Given the description of an element on the screen output the (x, y) to click on. 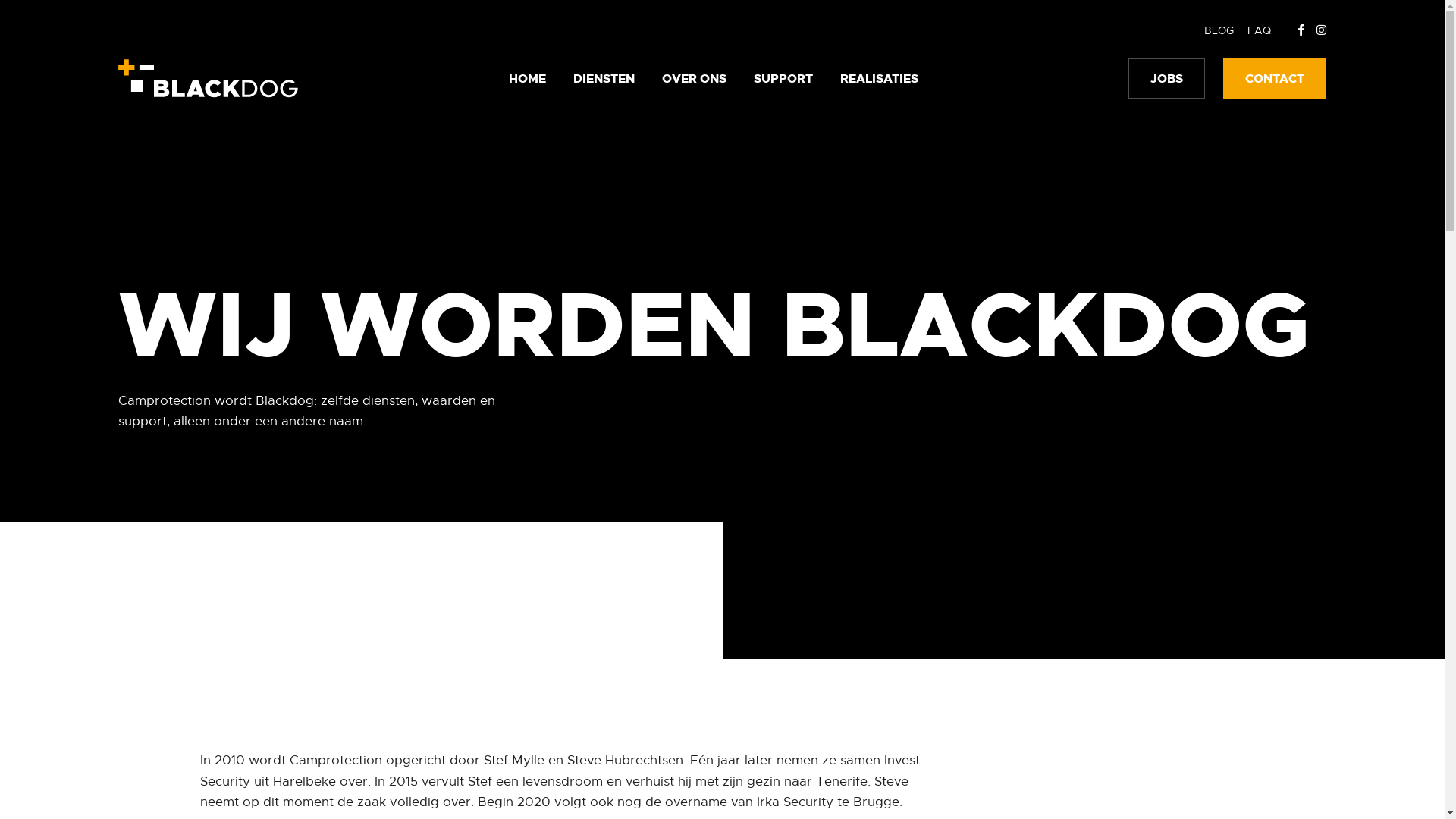
REALISATIES Element type: text (879, 78)
OVER ONS Element type: text (693, 78)
BLOG Element type: text (1218, 30)
DIENSTEN Element type: text (603, 78)
SUPPORT Element type: text (782, 78)
CONTACT Element type: text (1274, 78)
JOBS Element type: text (1166, 78)
FAQ Element type: text (1258, 30)
HOME Element type: text (526, 78)
